Given the description of an element on the screen output the (x, y) to click on. 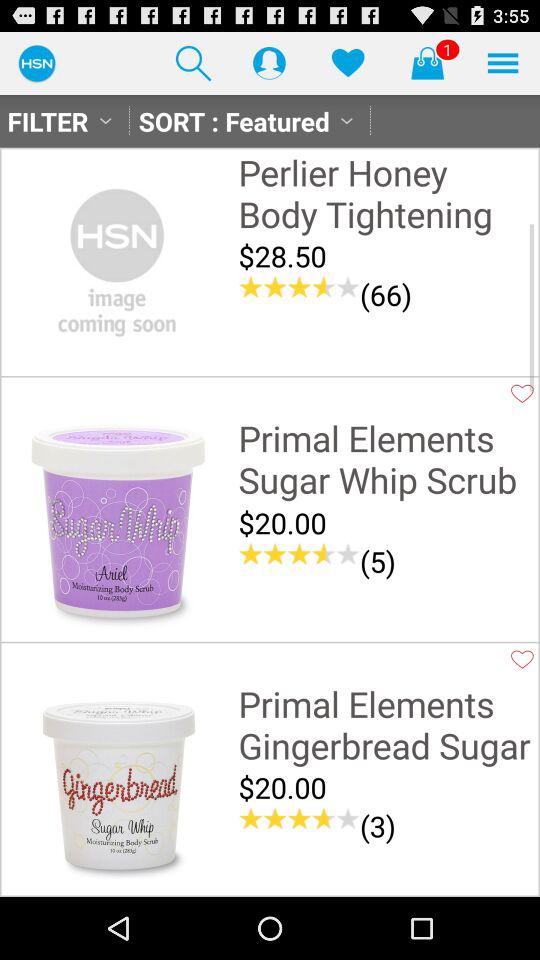
like (522, 393)
